Given the description of an element on the screen output the (x, y) to click on. 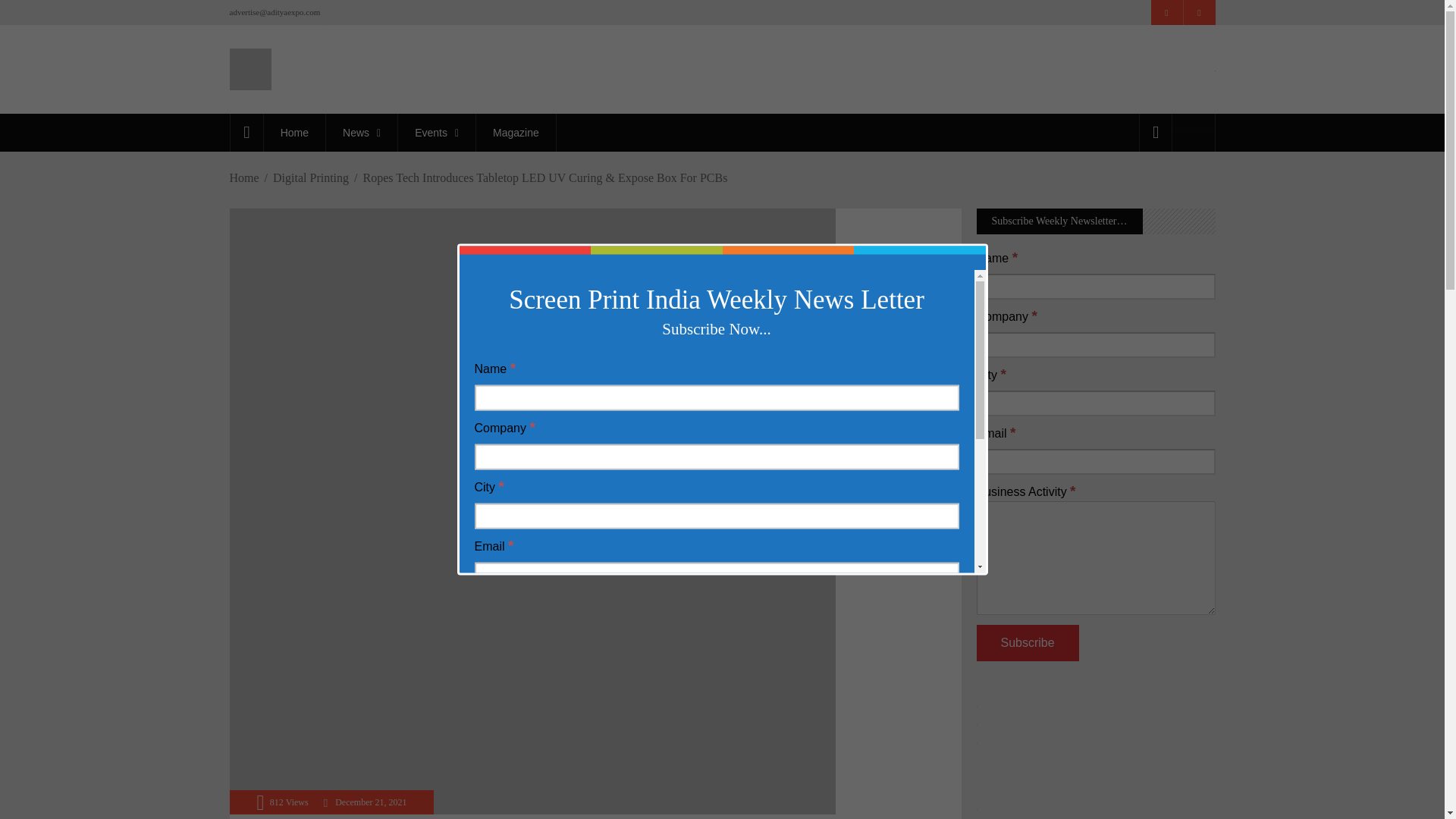
Home (293, 132)
Close (981, 249)
Subscribe (525, 758)
Subscribe (1027, 642)
Subscribe (1193, 129)
News (360, 132)
Events (436, 132)
Magazine (516, 132)
